Given the description of an element on the screen output the (x, y) to click on. 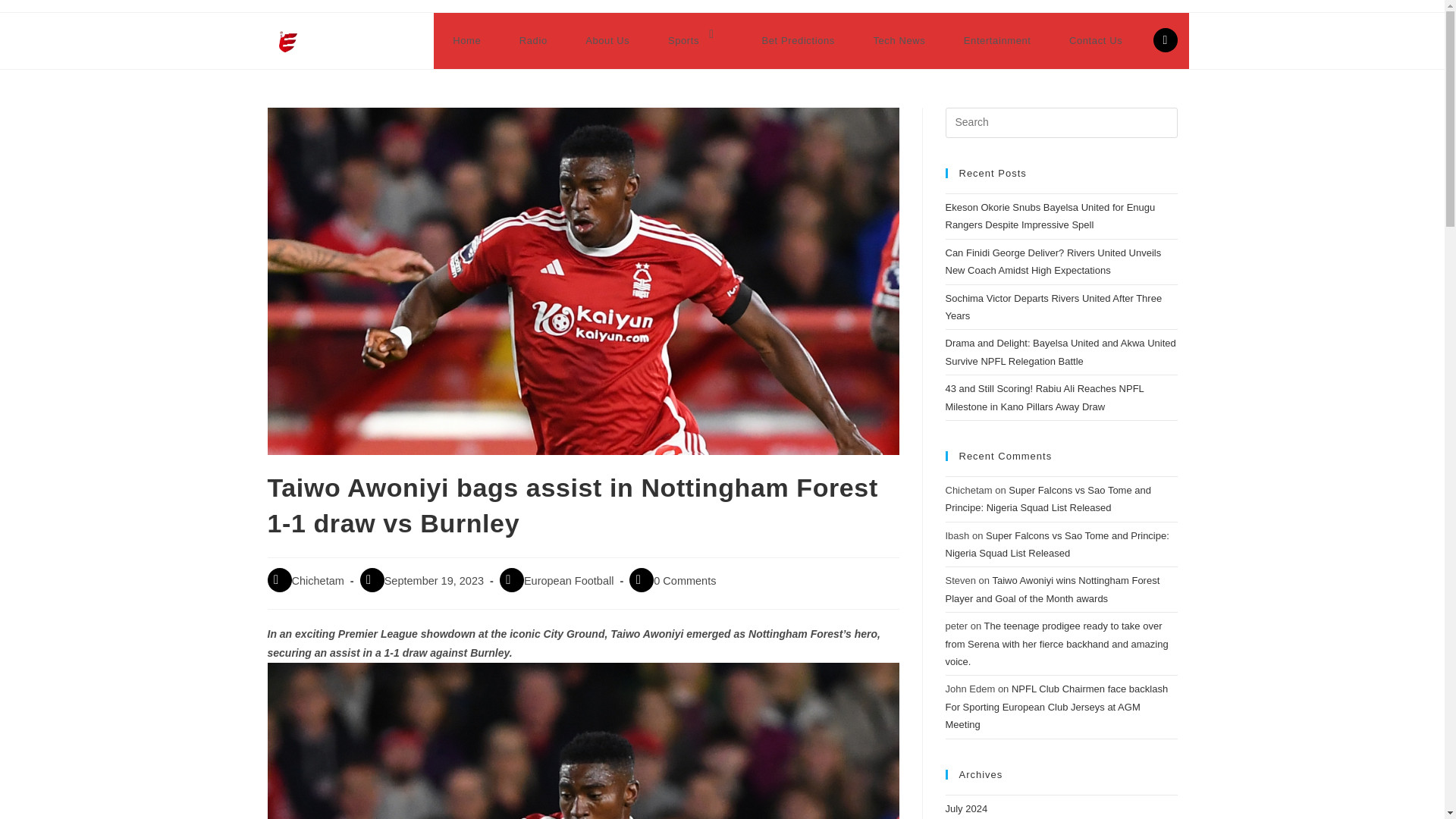
Sports (695, 40)
Entertainment (996, 40)
Tech News (898, 40)
Contact Us (1095, 40)
Bet Predictions (797, 40)
About Us (607, 40)
Chichetam (317, 580)
Posts by Chichetam (317, 580)
European Football (569, 580)
Home (466, 40)
